Given the description of an element on the screen output the (x, y) to click on. 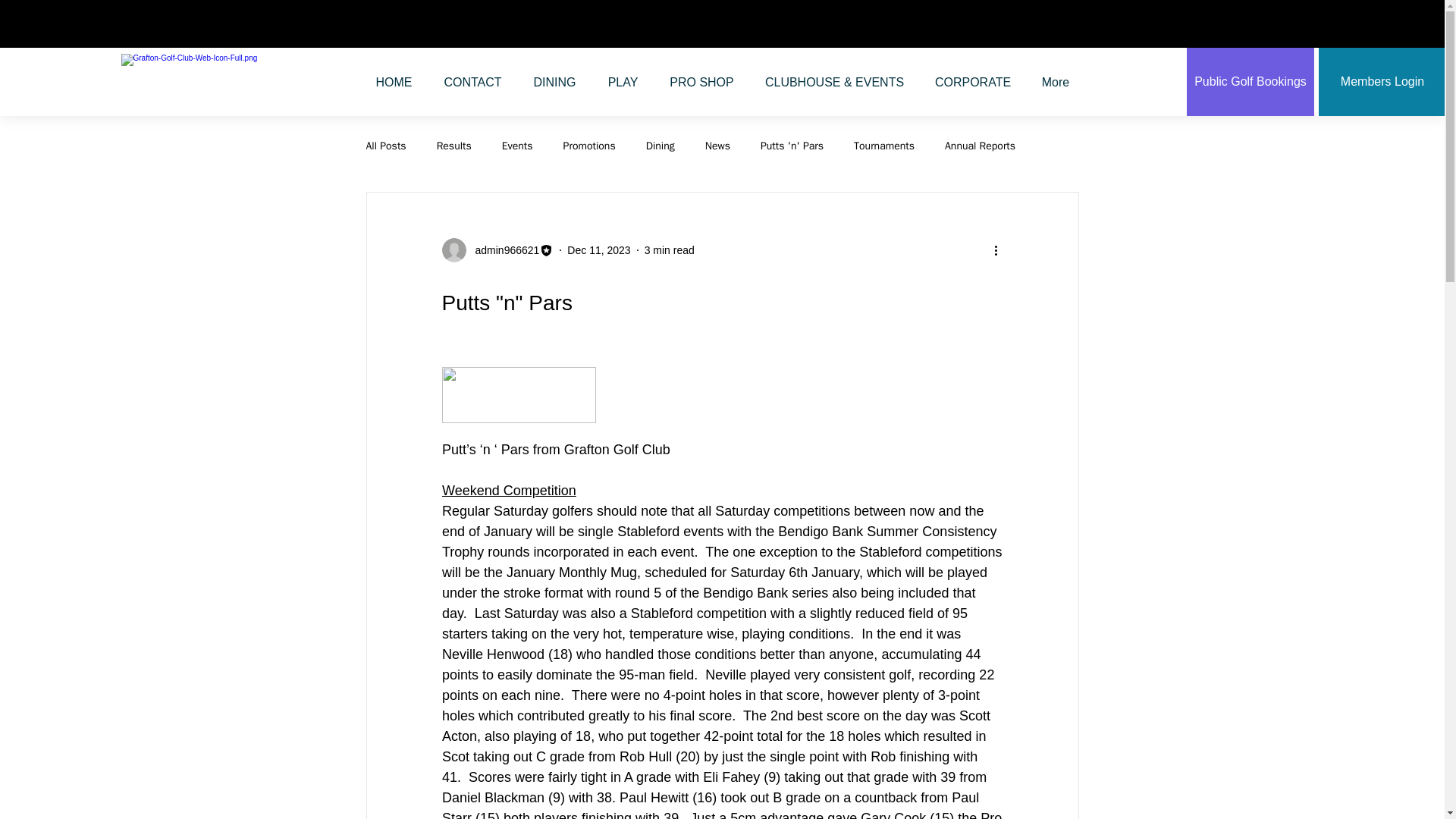
DINING (553, 82)
Putts 'n' Pars (792, 146)
HOME (393, 82)
PRO SHOP (701, 82)
CORPORATE (972, 82)
admin966621 (497, 250)
Dec 11, 2023 (598, 250)
CONTACT (472, 82)
Annual Reports (979, 146)
All Posts (385, 146)
